Given the description of an element on the screen output the (x, y) to click on. 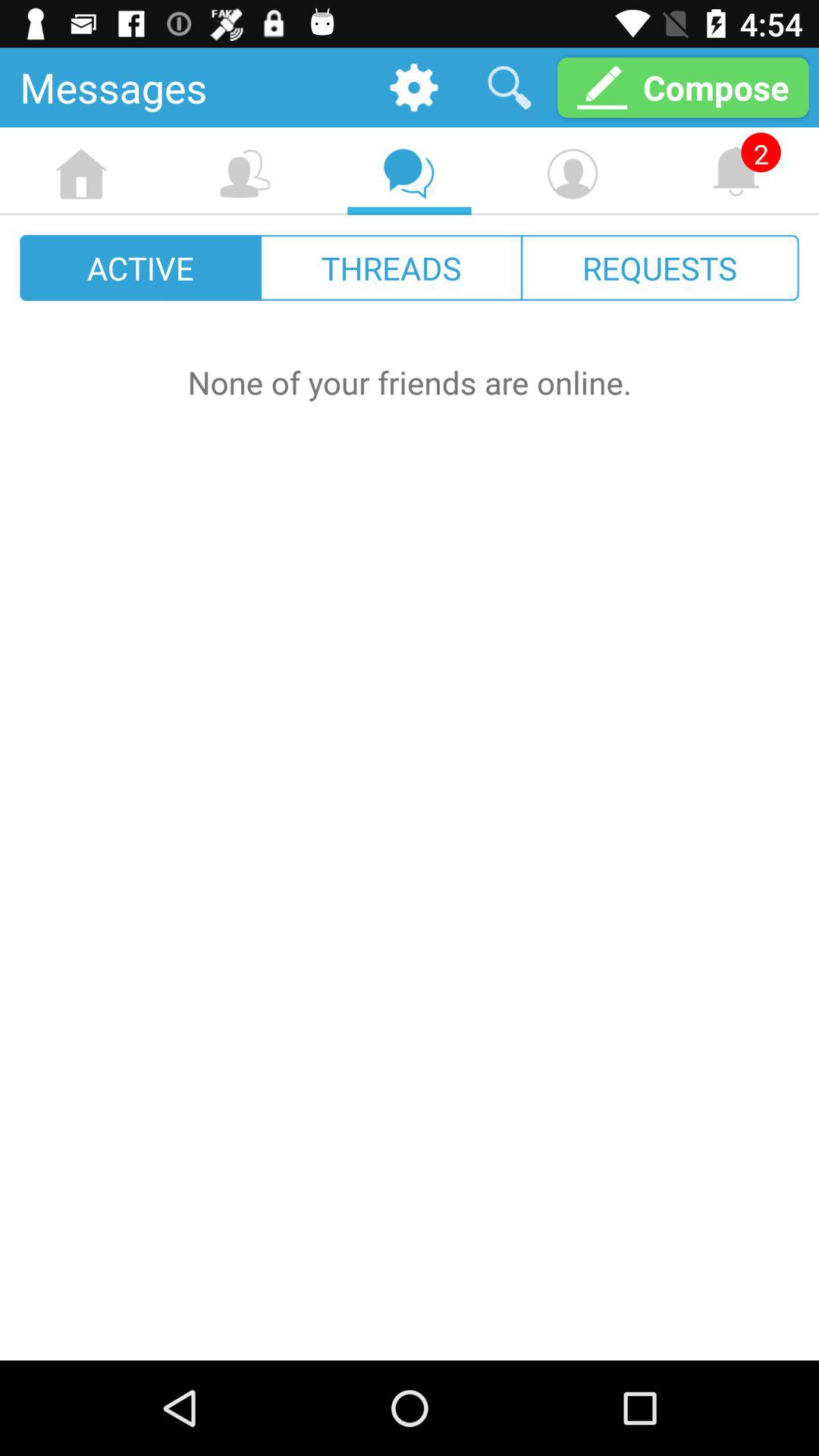
scroll until the threads item (390, 267)
